Given the description of an element on the screen output the (x, y) to click on. 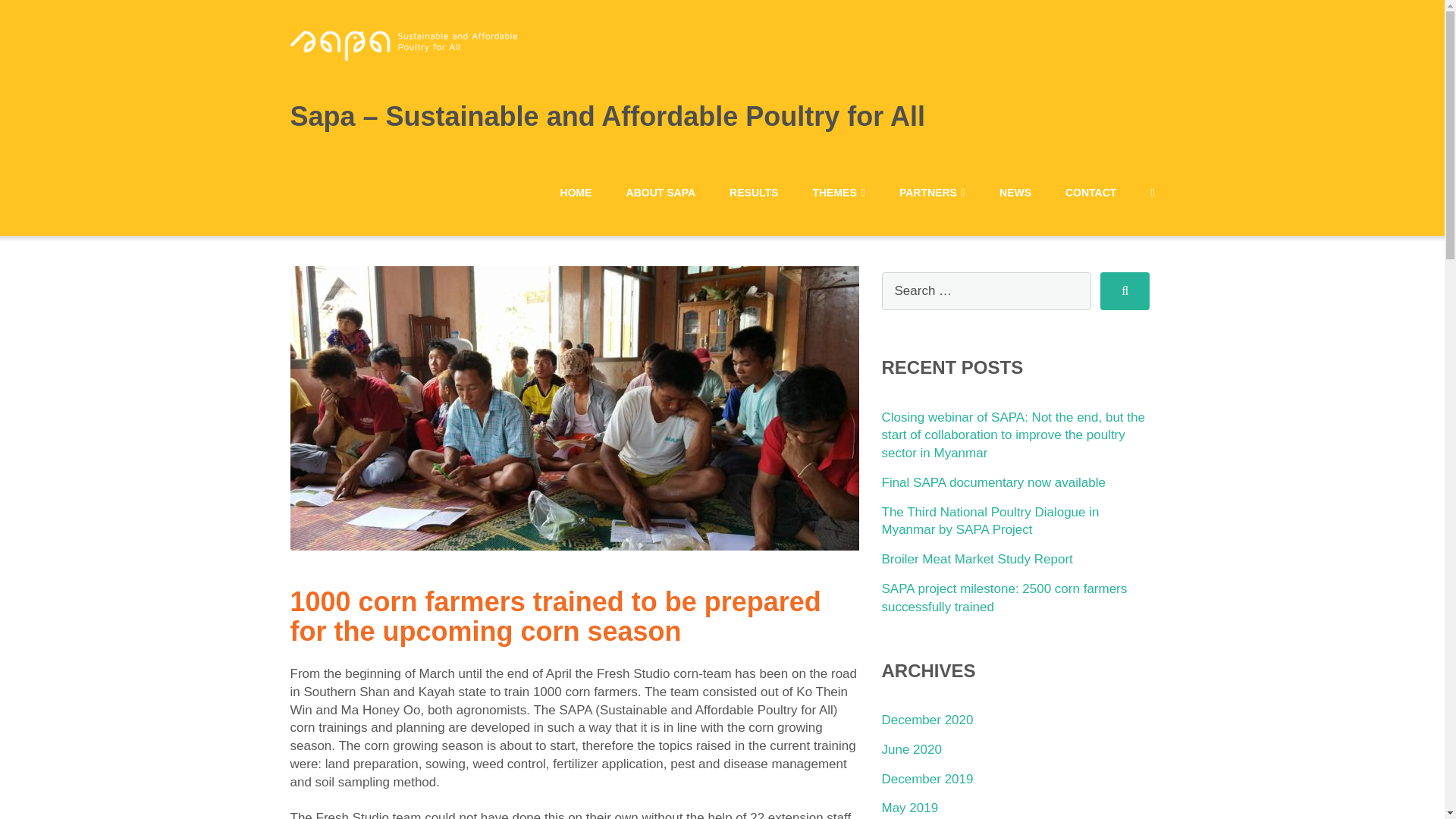
December 2020 (926, 719)
ABOUT SAPA (660, 193)
June 2020 (910, 749)
CONTACT (1090, 193)
Search for: (985, 290)
Broiler Meat Market Study Report (975, 559)
December 2019 (926, 779)
HOME (576, 193)
Final SAPA documentary now available (992, 482)
May 2019 (908, 807)
RESULTS (753, 193)
THEMES (838, 193)
